Given the description of an element on the screen output the (x, y) to click on. 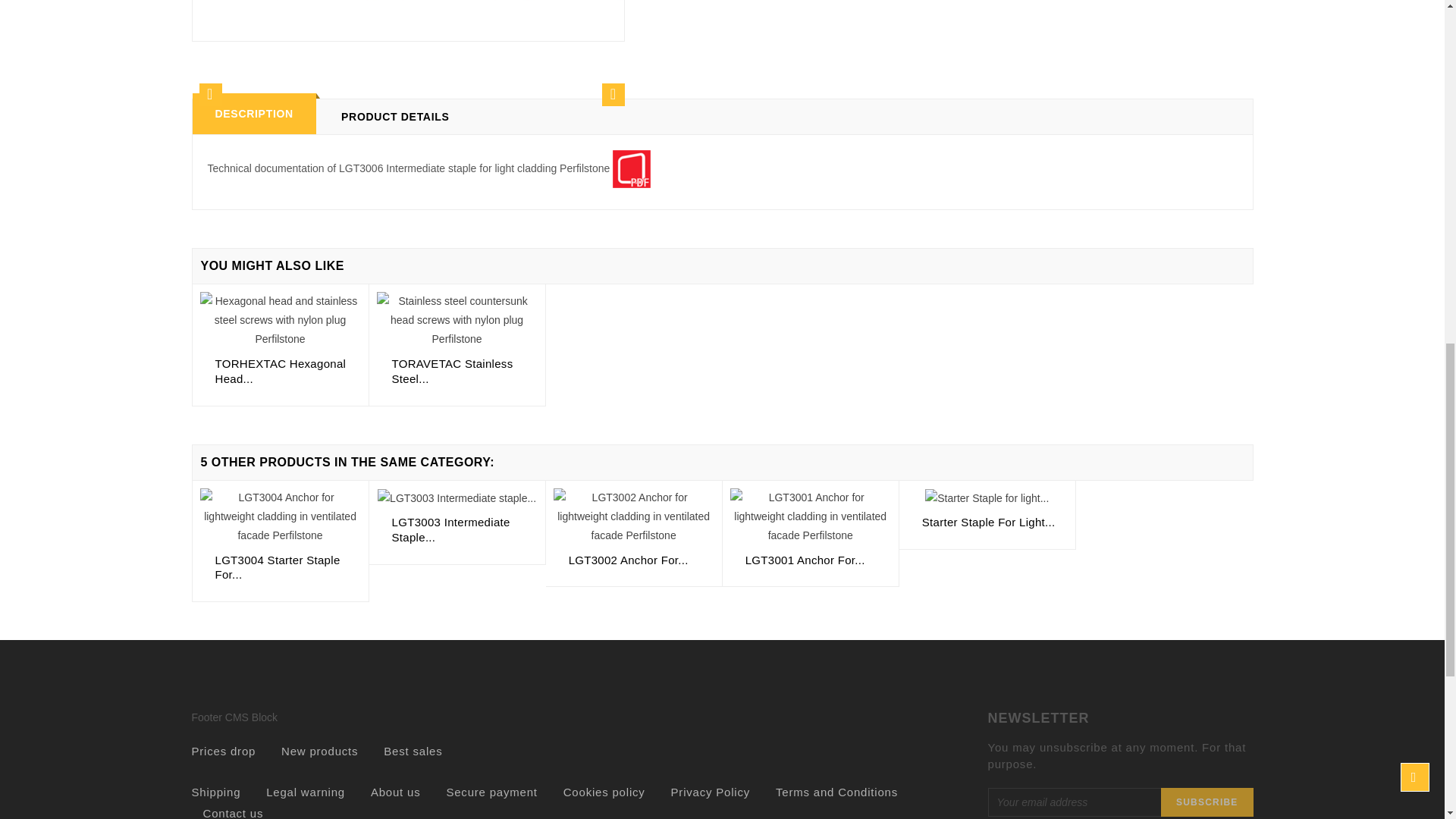
Cookies policy (604, 791)
Find out more about us (395, 791)
Legal warning (305, 791)
Our special products (223, 750)
Best sales (413, 750)
Terms and Conditions (837, 791)
Secure payment (491, 791)
New products (319, 750)
